Given the description of an element on the screen output the (x, y) to click on. 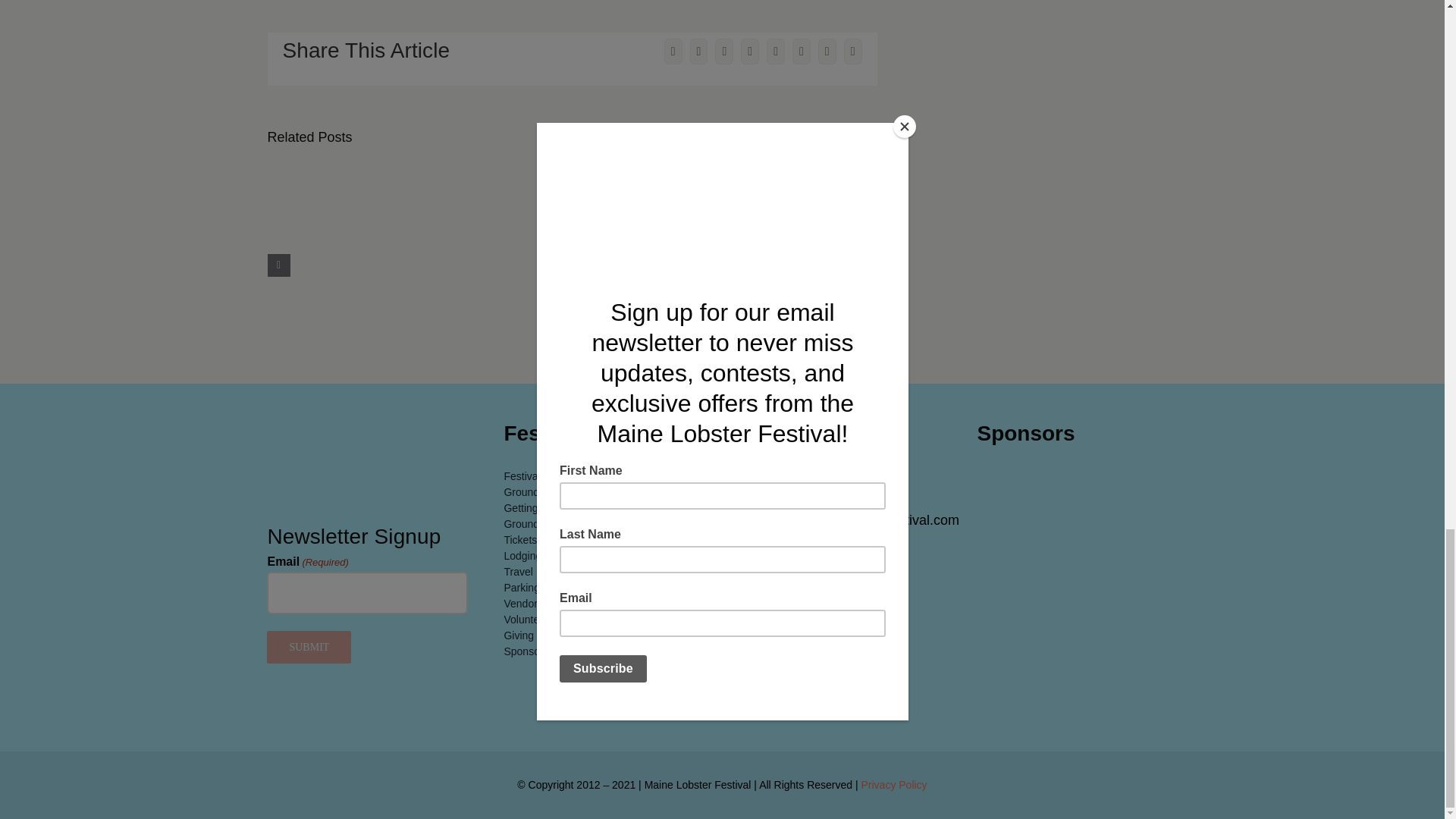
Submit (308, 646)
